Given the description of an element on the screen output the (x, y) to click on. 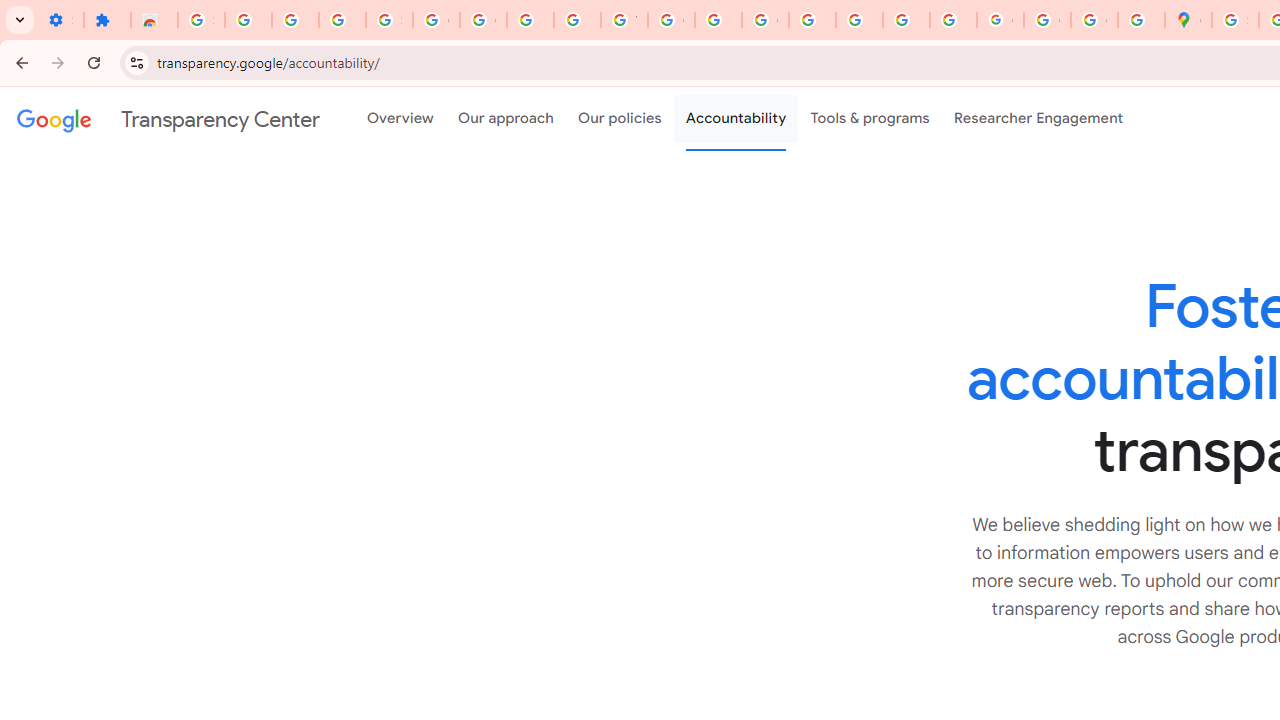
Delete photos & videos - Computer - Google Photos Help (248, 20)
Sign in - Google Accounts (1235, 20)
Google Maps (1188, 20)
Sign in - Google Accounts (389, 20)
Reviews: Helix Fruit Jump Arcade Game (153, 20)
Settings - On startup (60, 20)
Google Account Help (482, 20)
Learn how to find your photos - Google Photos Help (294, 20)
